Given the description of an element on the screen output the (x, y) to click on. 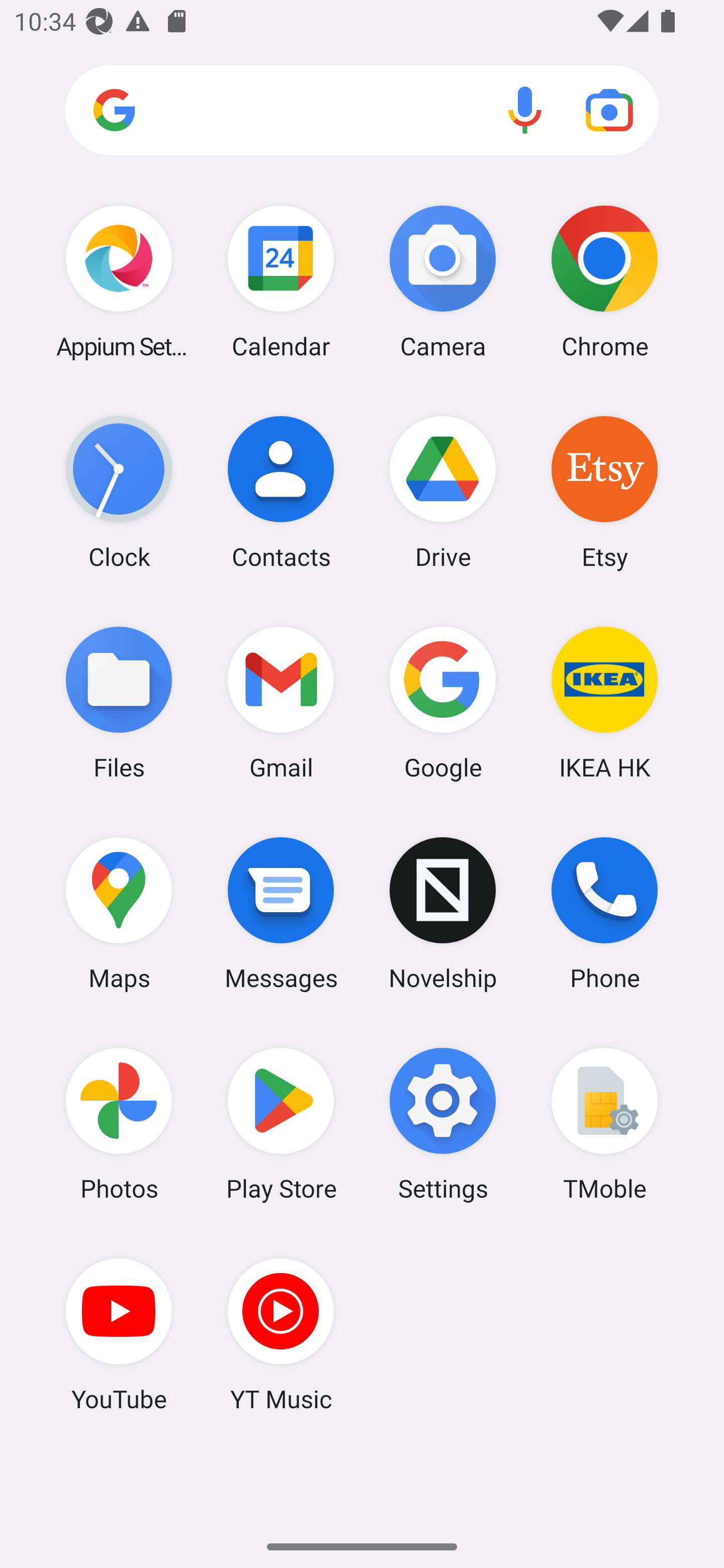
Search apps, web and more (361, 110)
Voice search (524, 109)
Google Lens (608, 109)
Appium Settings (118, 281)
Calendar (280, 281)
Camera (443, 281)
Chrome (604, 281)
Clock (118, 492)
Contacts (280, 492)
Drive (443, 492)
Etsy (604, 492)
Files (118, 702)
Gmail (280, 702)
Google (443, 702)
IKEA HK (604, 702)
Maps (118, 913)
Messages (280, 913)
Novelship (443, 913)
Phone (604, 913)
Photos (118, 1124)
Play Store (280, 1124)
Settings (443, 1124)
TMoble (604, 1124)
YouTube (118, 1334)
YT Music (280, 1334)
